Given the description of an element on the screen output the (x, y) to click on. 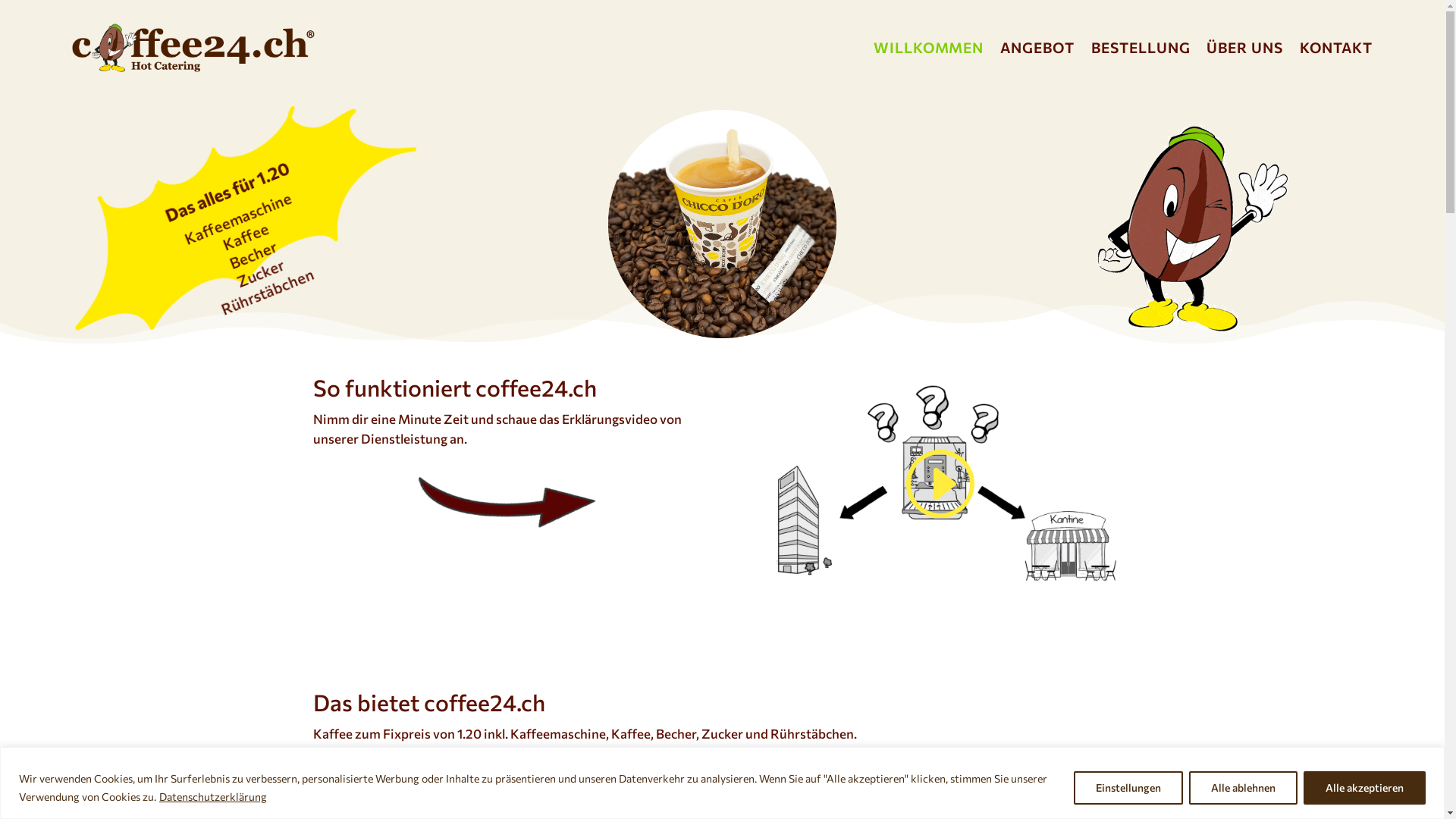
ANGEBOT Element type: text (1037, 47)
BESTELLUNG Element type: text (1140, 47)
becher Element type: hover (722, 223)
pfeilnachrechts (1) Element type: hover (506, 530)
Alle ablehnen Element type: text (1243, 786)
Einstellungen Element type: text (1128, 786)
Alle akzeptieren Element type: text (1364, 786)
KONTAKT Element type: text (1335, 47)
WILLKOMMEN Element type: text (928, 47)
coffee24 Element type: hover (1203, 228)
